Given the description of an element on the screen output the (x, y) to click on. 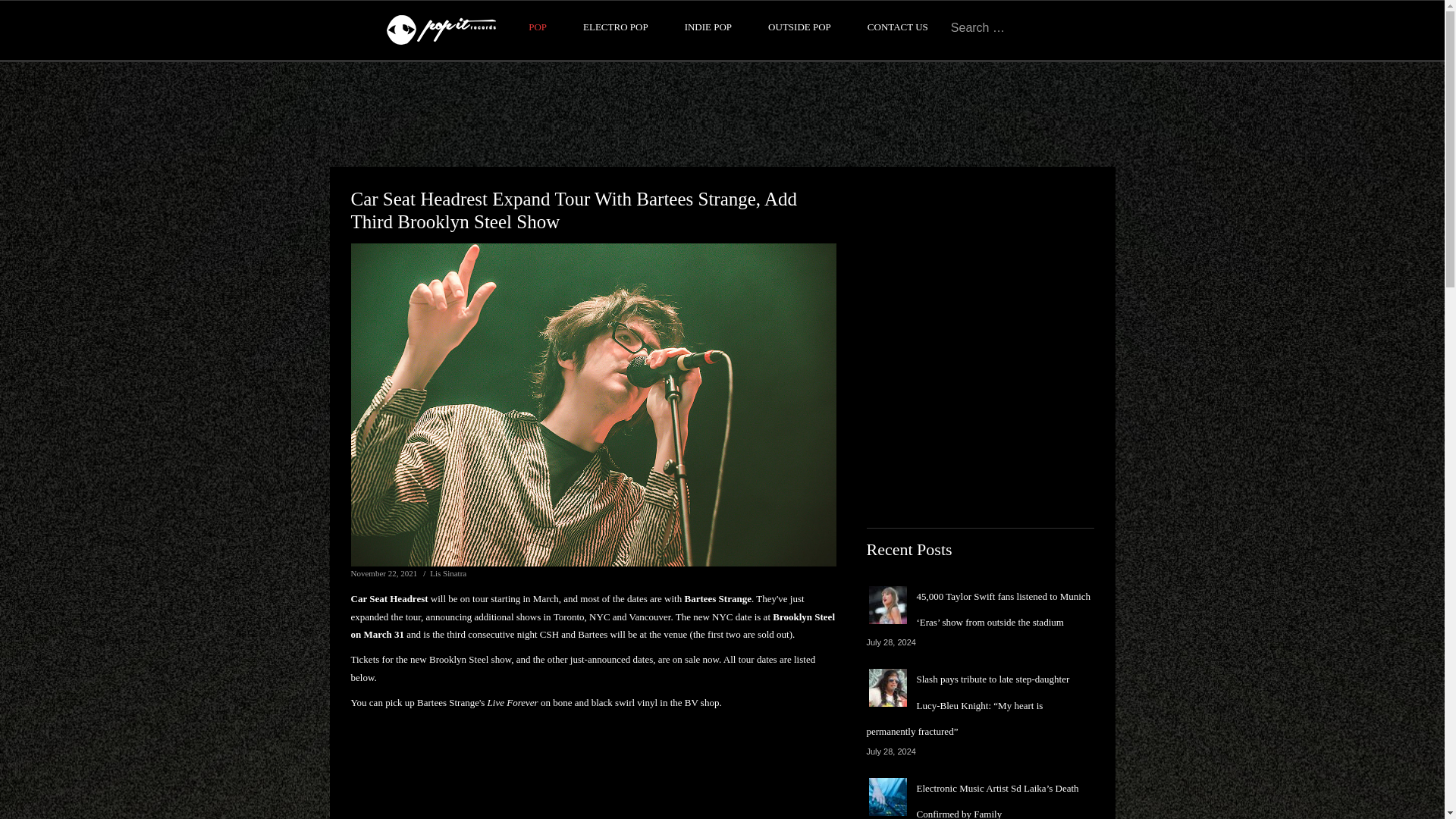
ELECTRO POP (615, 26)
November 22, 2021 (383, 573)
POP (537, 26)
Search for: (997, 27)
Advertisement (721, 114)
OUTSIDE POP (798, 26)
CONTACT US (897, 26)
INDIE POP (707, 26)
Lis Sinatra (447, 573)
